Given the description of an element on the screen output the (x, y) to click on. 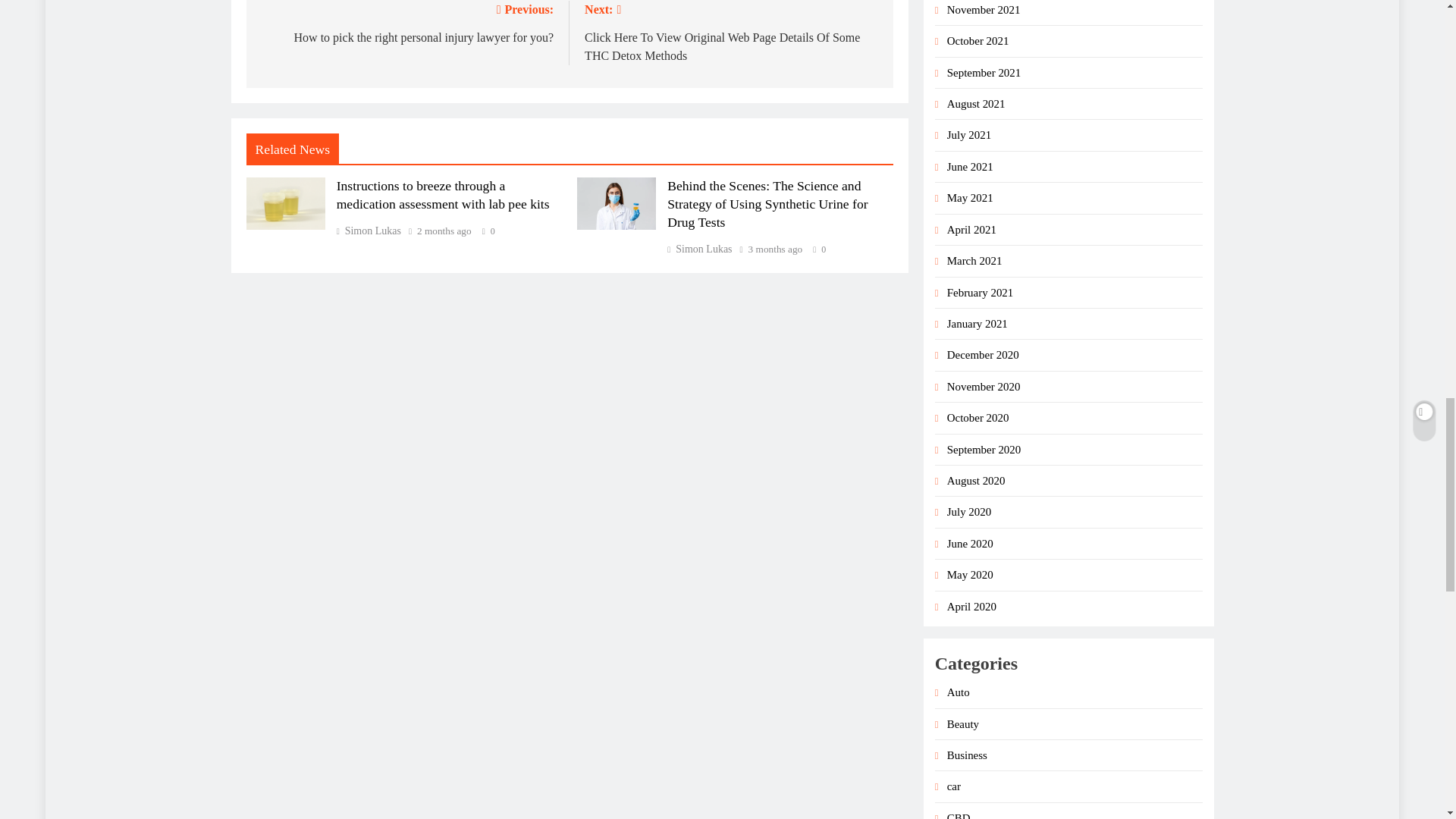
Simon Lukas (368, 230)
2 months ago (443, 231)
Simon Lukas (699, 248)
3 months ago (775, 249)
